Given the description of an element on the screen output the (x, y) to click on. 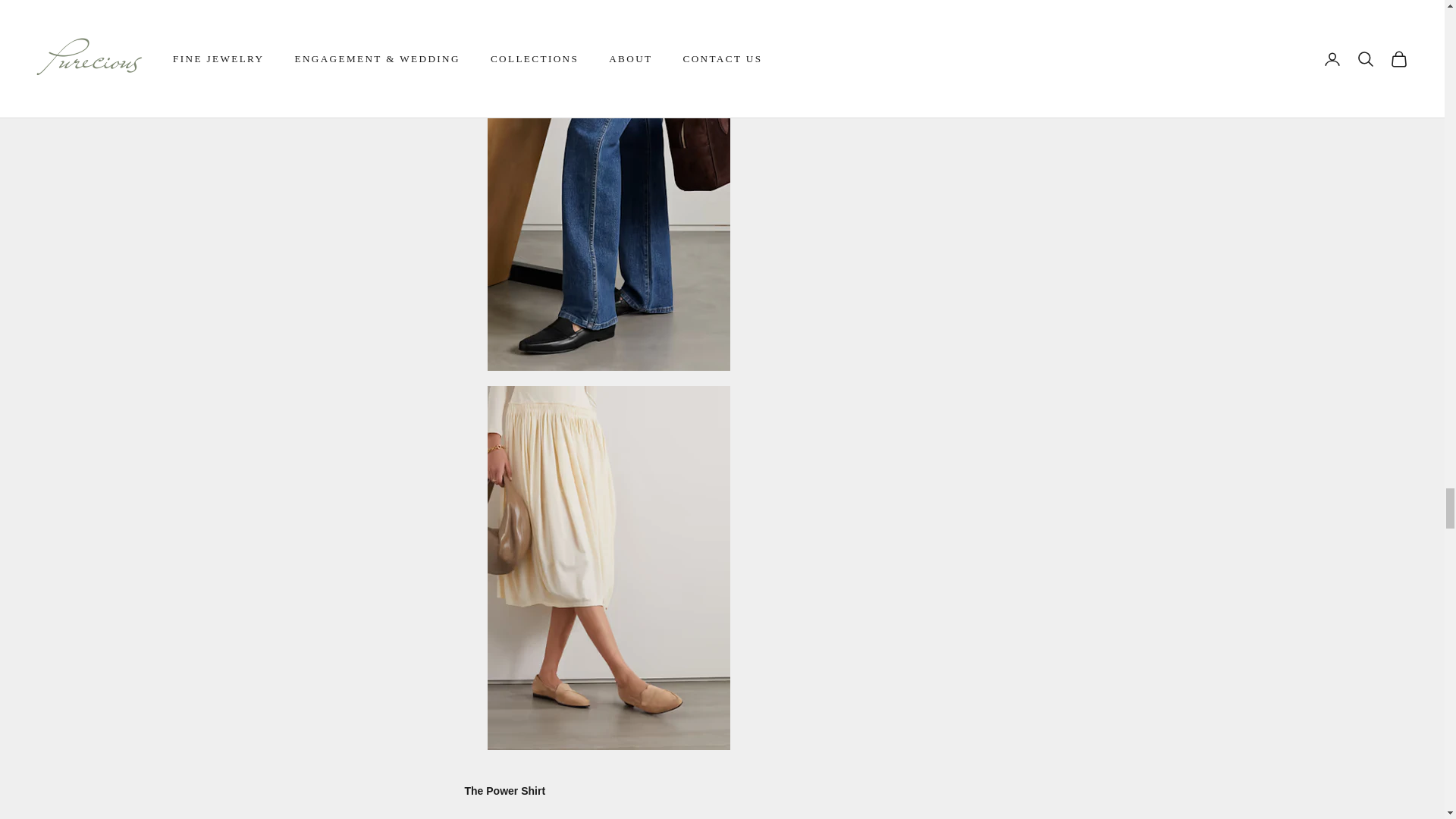
Leather Loafer (607, 187)
Leather Loafer (607, 567)
